Given the description of an element on the screen output the (x, y) to click on. 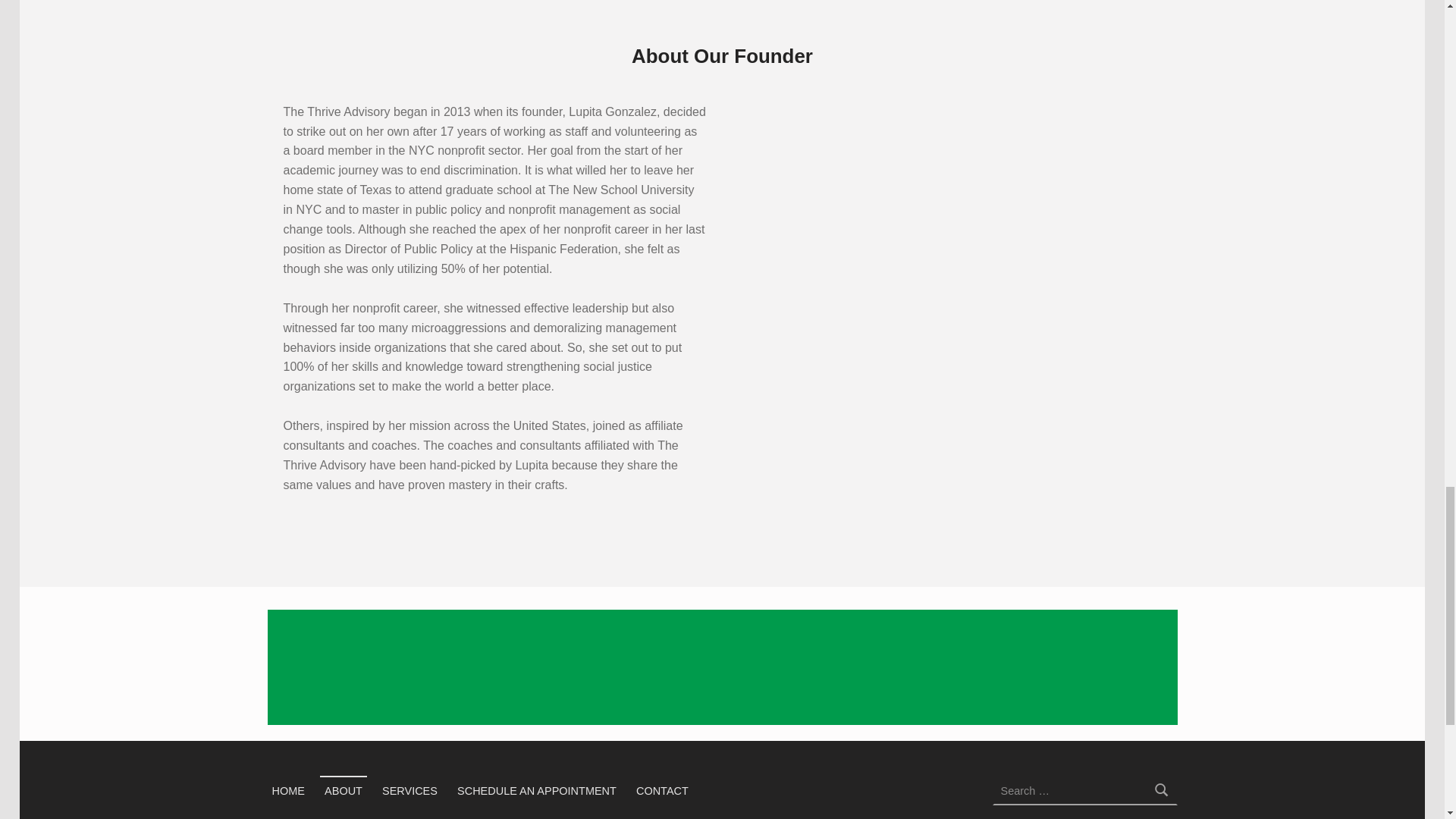
HOME (287, 789)
SCHEDULE AN APPOINTMENT (536, 789)
SERVICES (409, 789)
CONTACT (662, 789)
ABOUT (343, 789)
